Given the description of an element on the screen output the (x, y) to click on. 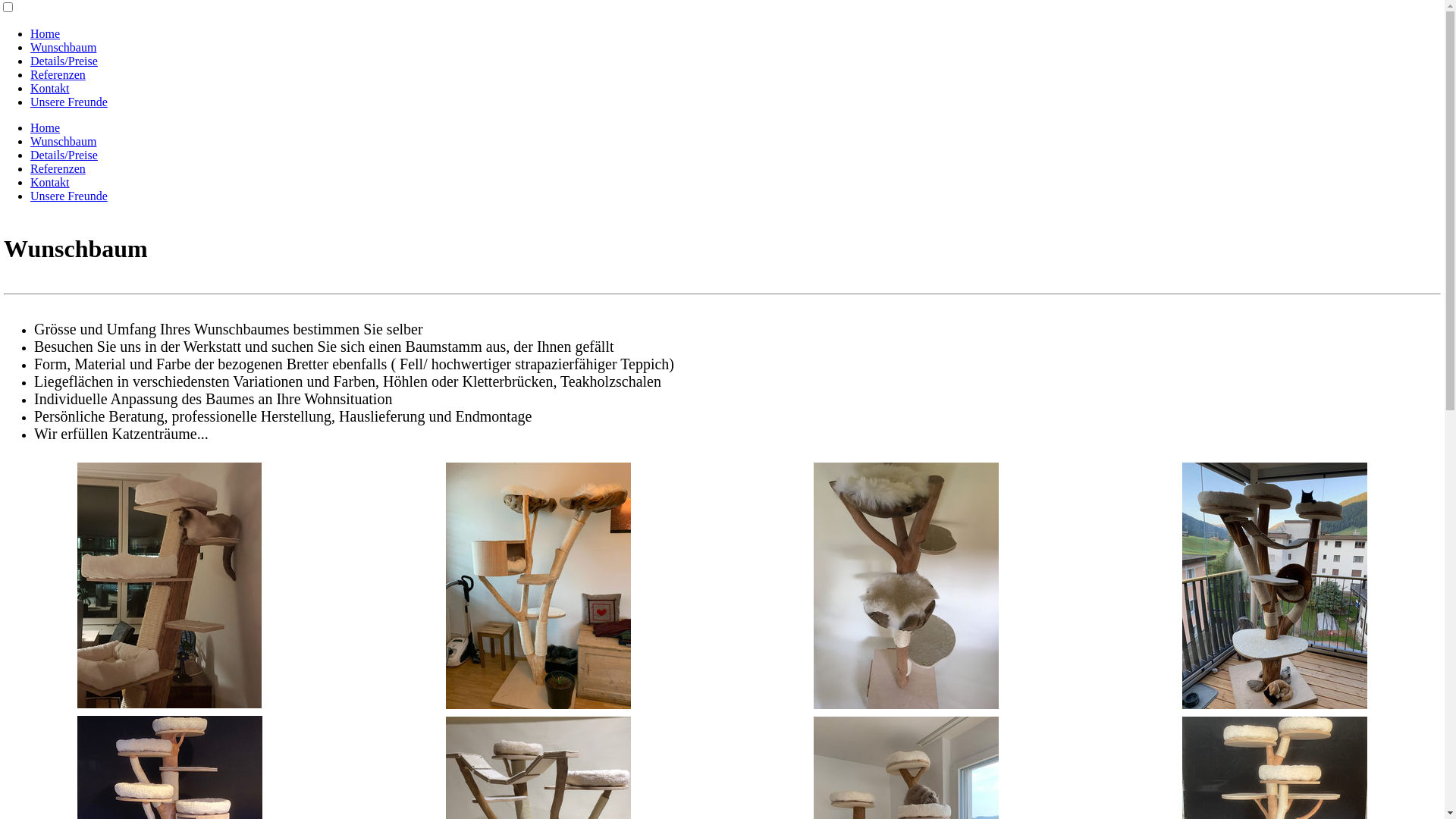
Wunschbaum Element type: text (63, 46)
Unsere Freunde Element type: text (68, 195)
Kontakt Element type: text (49, 87)
Unsere Freunde Element type: text (68, 101)
Referenzen Element type: text (57, 168)
Details/Preise Element type: text (63, 154)
Details/Preise Element type: text (63, 60)
Kontakt Element type: text (49, 181)
Home Element type: text (44, 127)
Home Element type: text (44, 33)
Referenzen Element type: text (57, 74)
Wunschbaum Element type: text (63, 140)
